Given the description of an element on the screen output the (x, y) to click on. 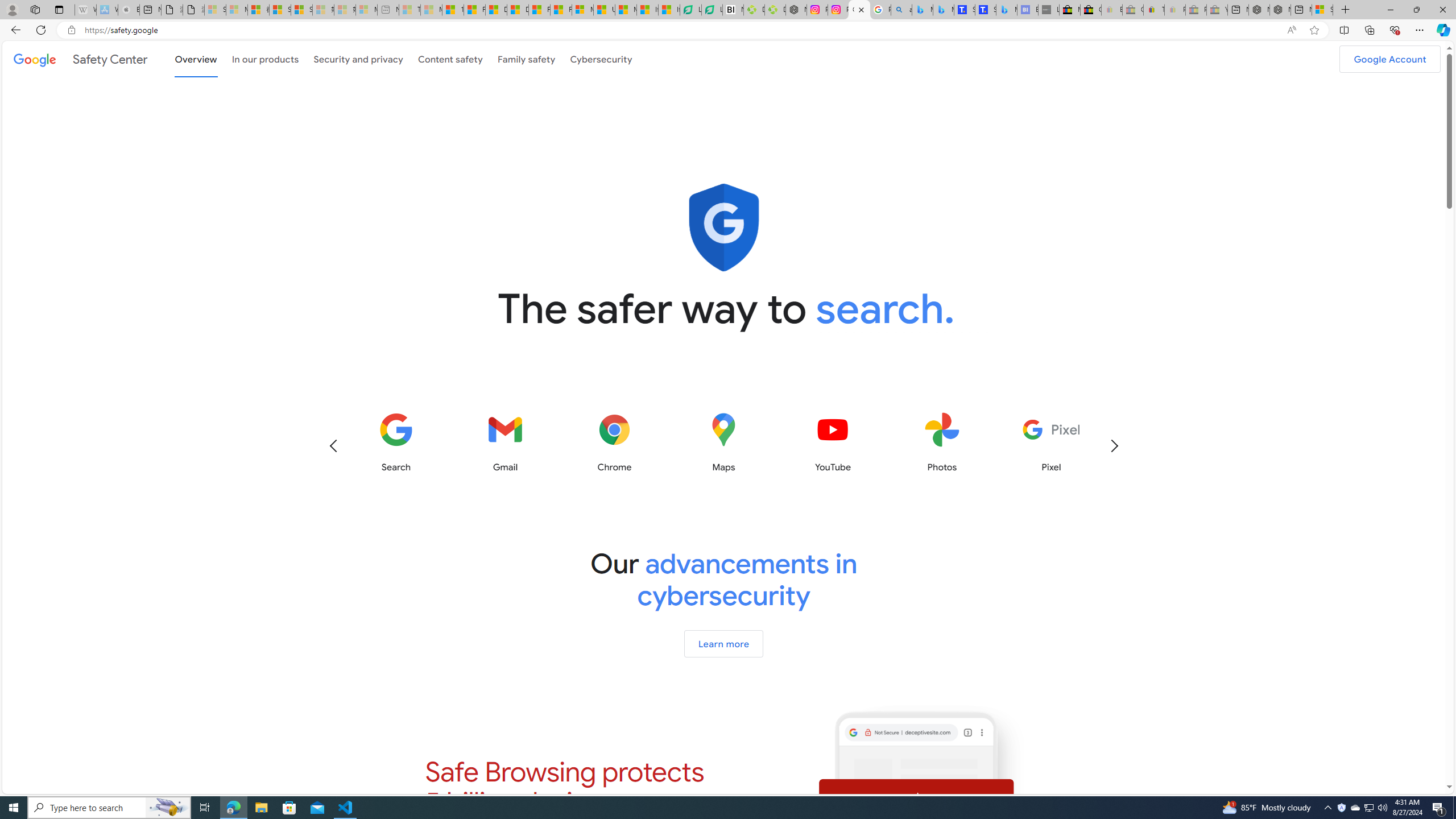
Overview (195, 58)
Learn more (724, 643)
LendingTree - Compare Lenders (712, 9)
Overview (195, 58)
Safety Center (80, 58)
Microsoft Services Agreement - Sleeping (236, 9)
Sign in to your Microsoft account - Sleeping (215, 9)
alabama high school quarterback dies - Search (901, 9)
